Given the description of an element on the screen output the (x, y) to click on. 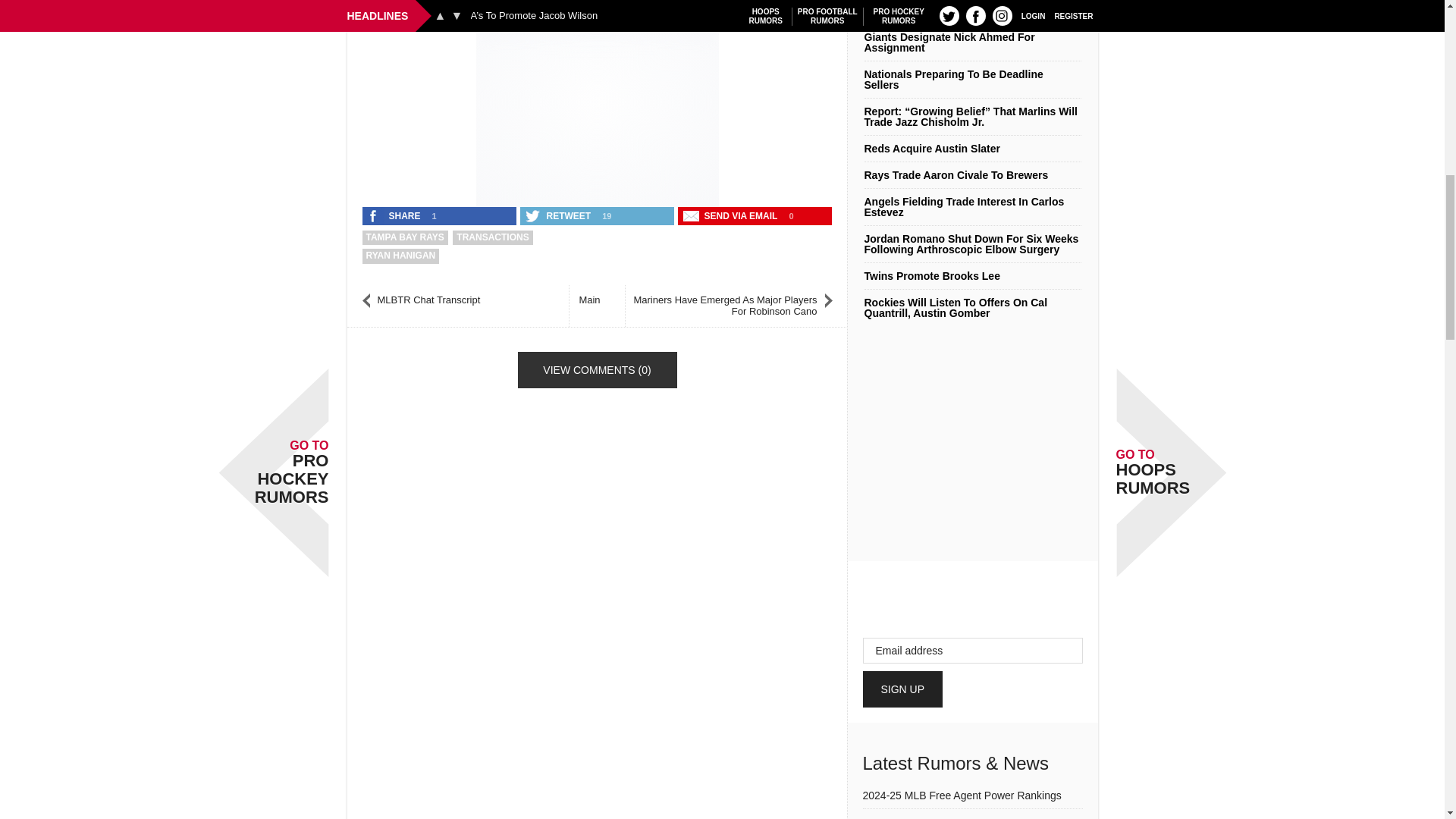
3rd party ad content (597, 104)
Retweet 'Rays To Extend Ryan Hanigan' on Twitter (558, 216)
Share 'Rays To Extend Ryan Hanigan' on Facebook (395, 216)
Send Rays To Extend Ryan Hanigan with an email (732, 216)
Sign Up (903, 688)
